Given the description of an element on the screen output the (x, y) to click on. 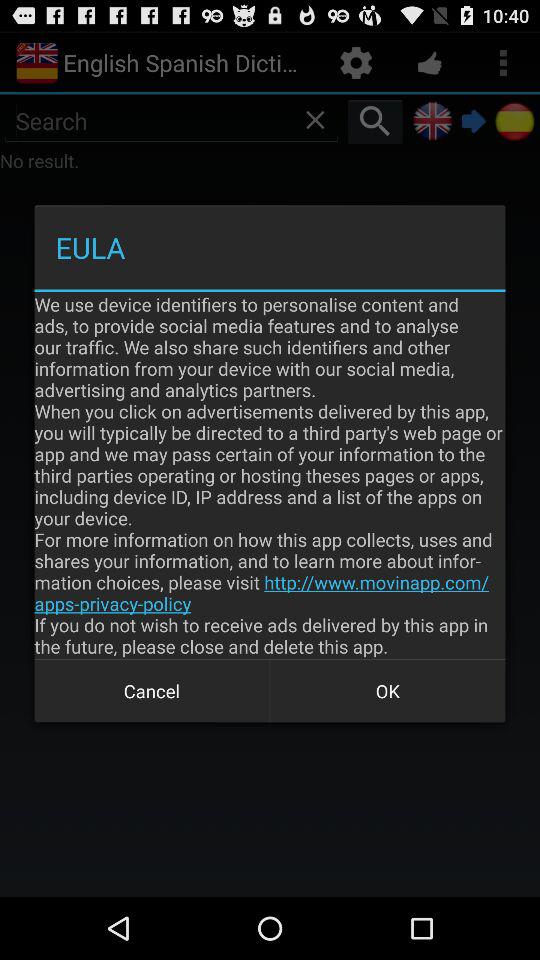
turn on we use device at the center (269, 475)
